Given the description of an element on the screen output the (x, y) to click on. 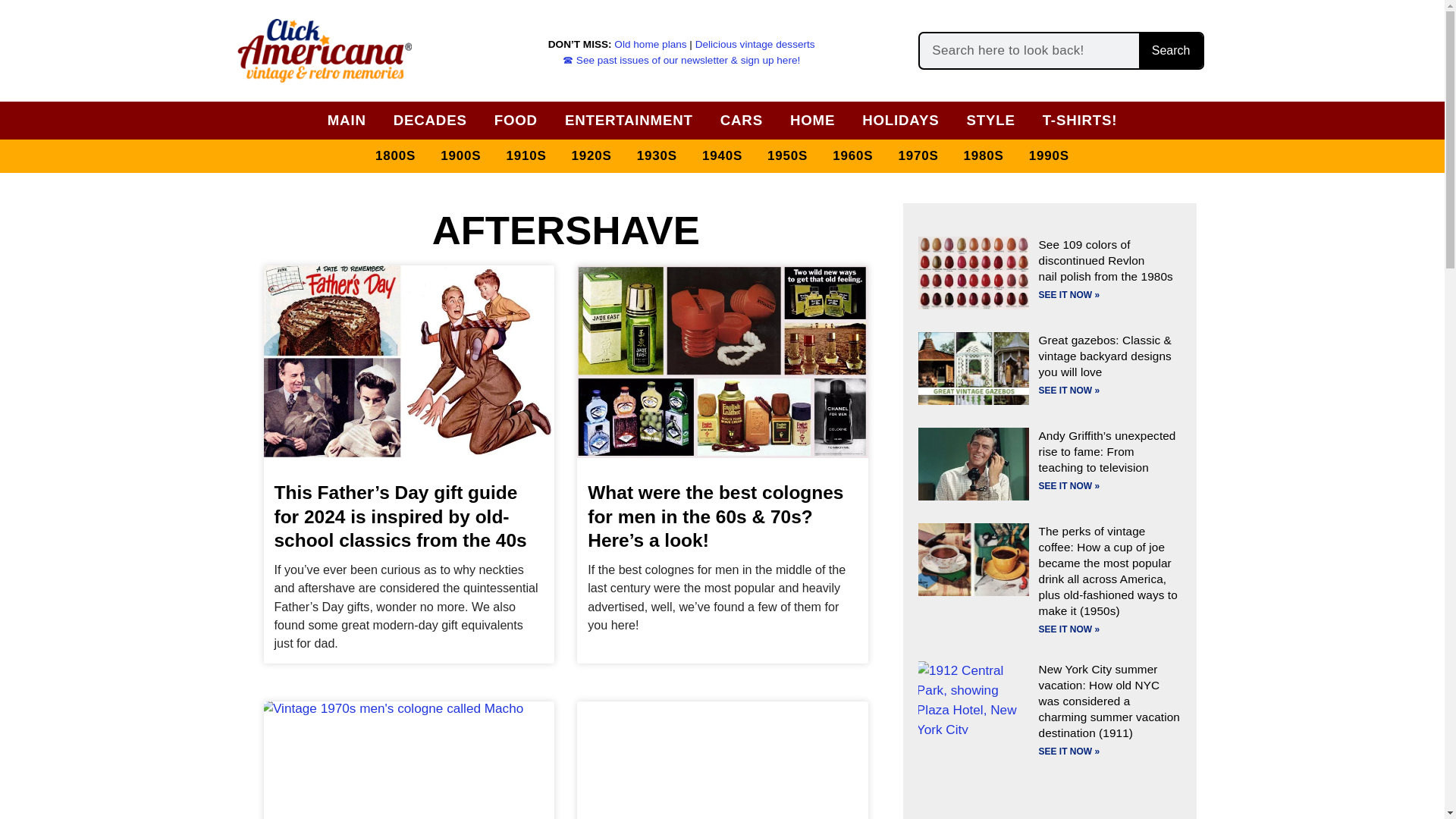
1990S (1049, 155)
1910S (525, 155)
1980S (984, 155)
CARS (741, 120)
ENTERTAINMENT (628, 120)
HOME (812, 120)
1960S (853, 155)
DECADES (430, 120)
T-SHIRTS! (1080, 120)
1800S (395, 155)
